Given the description of an element on the screen output the (x, y) to click on. 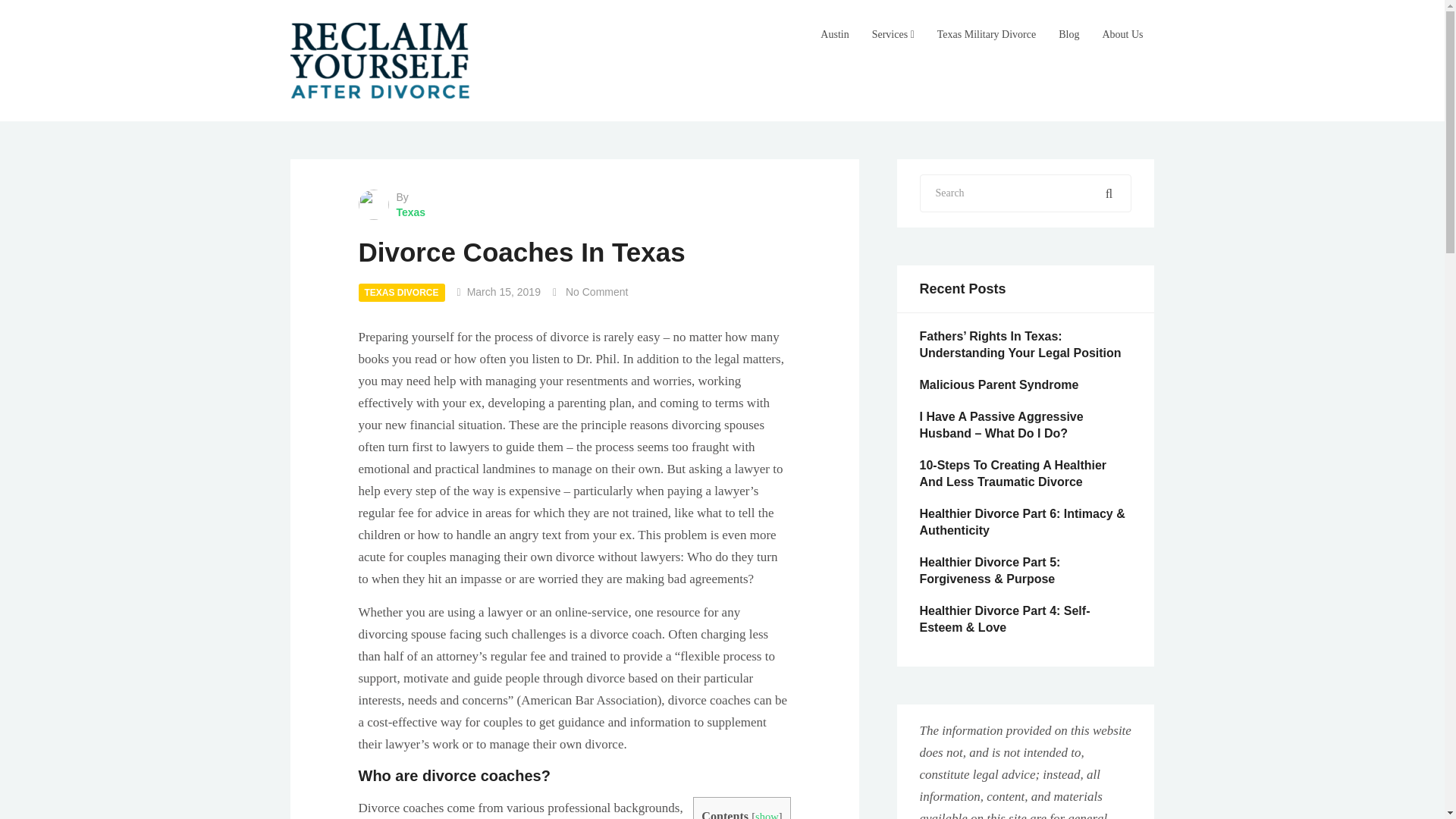
About Us (1122, 34)
Austin (834, 34)
No Comment (596, 291)
10-Steps To Creating A Healthier And Less Traumatic Divorce (1012, 473)
March 15, 2019 (503, 291)
Texas (574, 212)
Texas Military Divorce (986, 34)
show (766, 814)
Malicious Parent Syndrome (998, 384)
Services (893, 34)
Texas Military Divorce (986, 34)
TEXAS DIVORCE (401, 292)
About Us (1122, 34)
Austin (834, 34)
Services (893, 34)
